Given the description of an element on the screen output the (x, y) to click on. 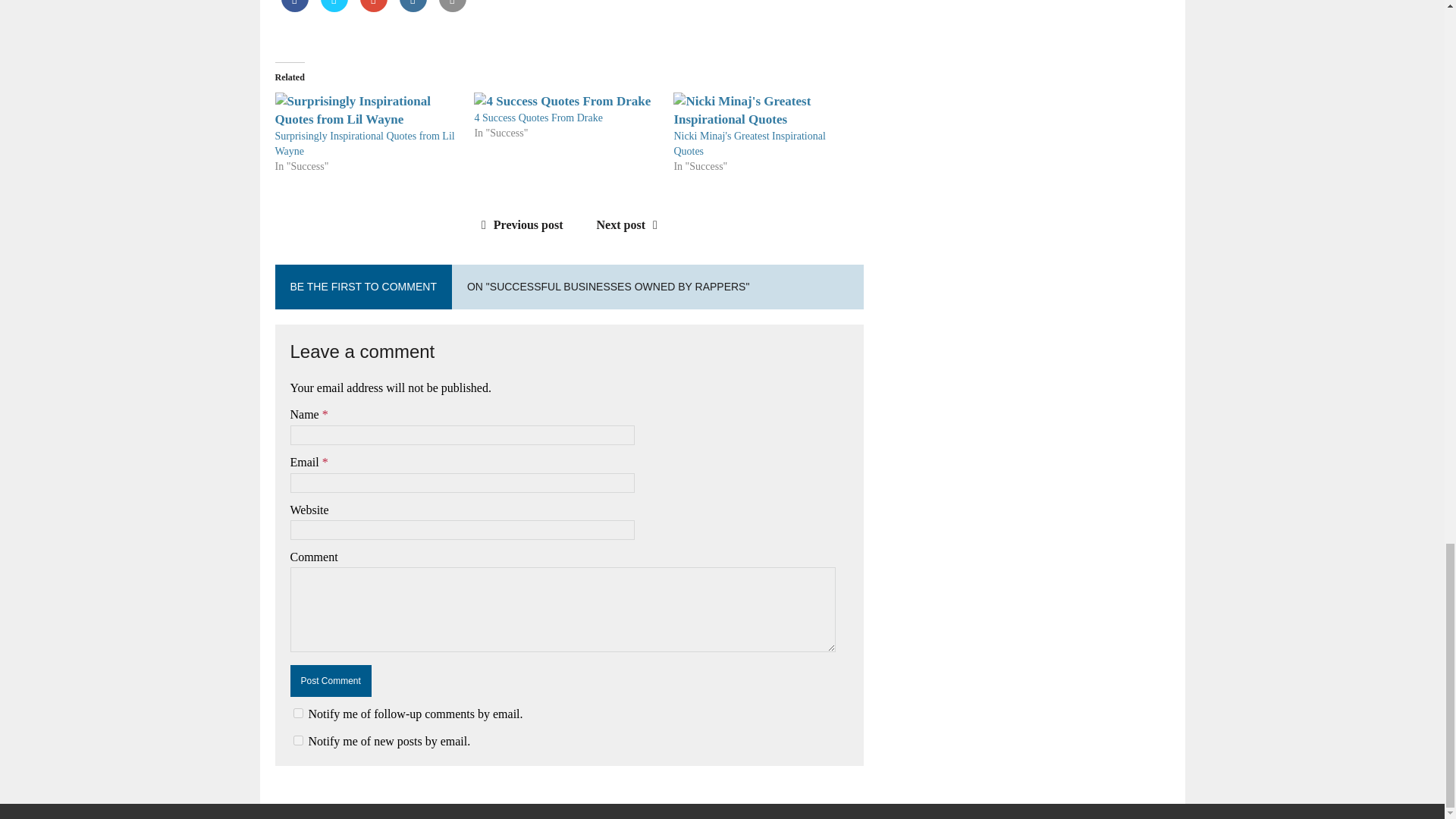
Share on Google Plus (373, 15)
Share on Facebook (294, 15)
Share it on Email (451, 15)
subscribe (297, 713)
4 Success Quotes From Drake (538, 117)
Nicki Minaj's Greatest Inspirational Quotes (748, 143)
Share on Twitter (333, 15)
Next post (630, 224)
Previous post (518, 224)
Post Comment (330, 680)
Share on LinkedIn (412, 15)
Surprisingly Inspirational Quotes from Lil Wayne (364, 143)
Post Comment (330, 680)
subscribe (297, 740)
